Given the description of an element on the screen output the (x, y) to click on. 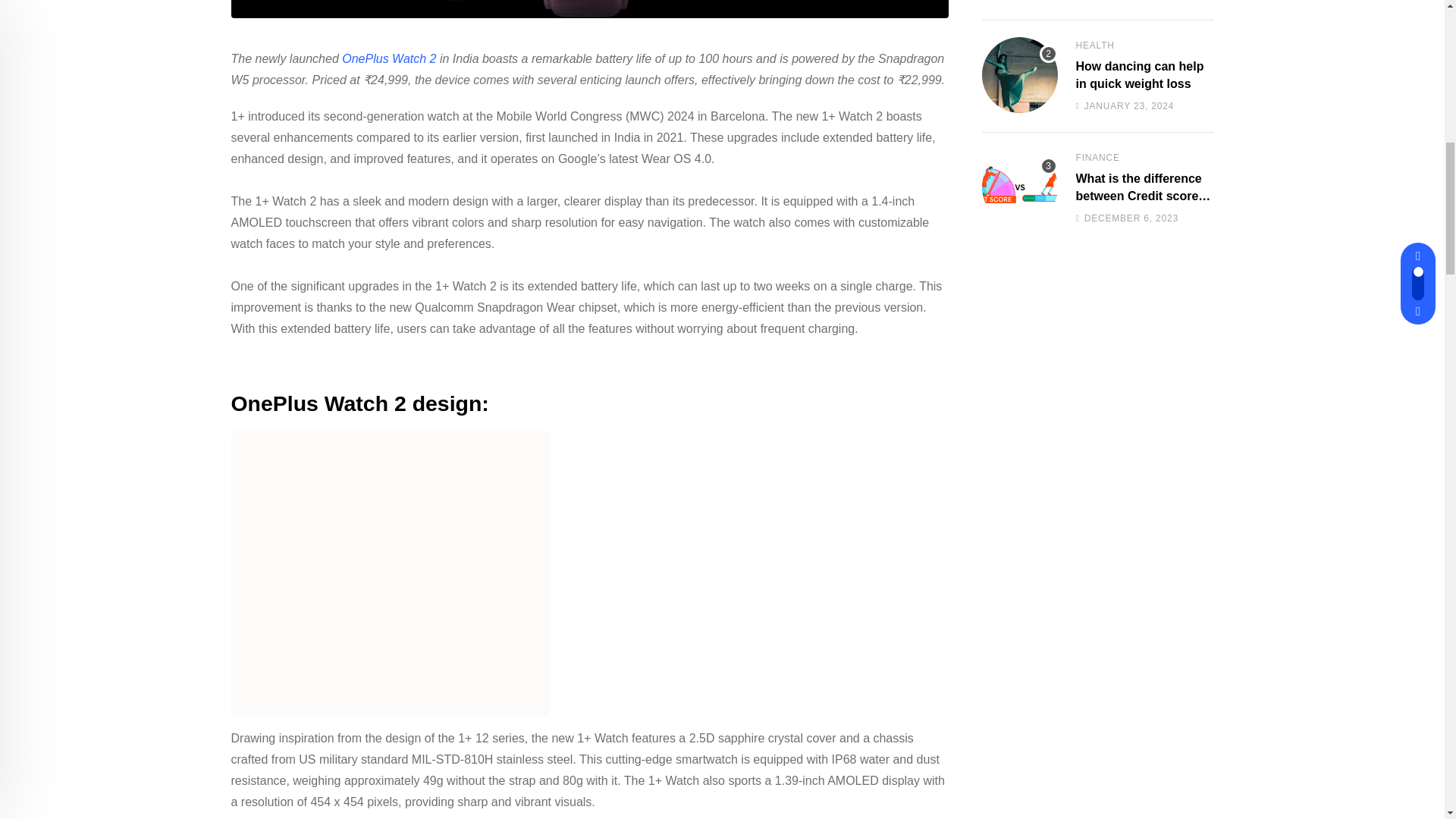
How dancing can help in quick weight loss (1019, 74)
Newzvilla (1019, 74)
Newzvilla (588, 8)
Newzvilla (389, 572)
